Given the description of an element on the screen output the (x, y) to click on. 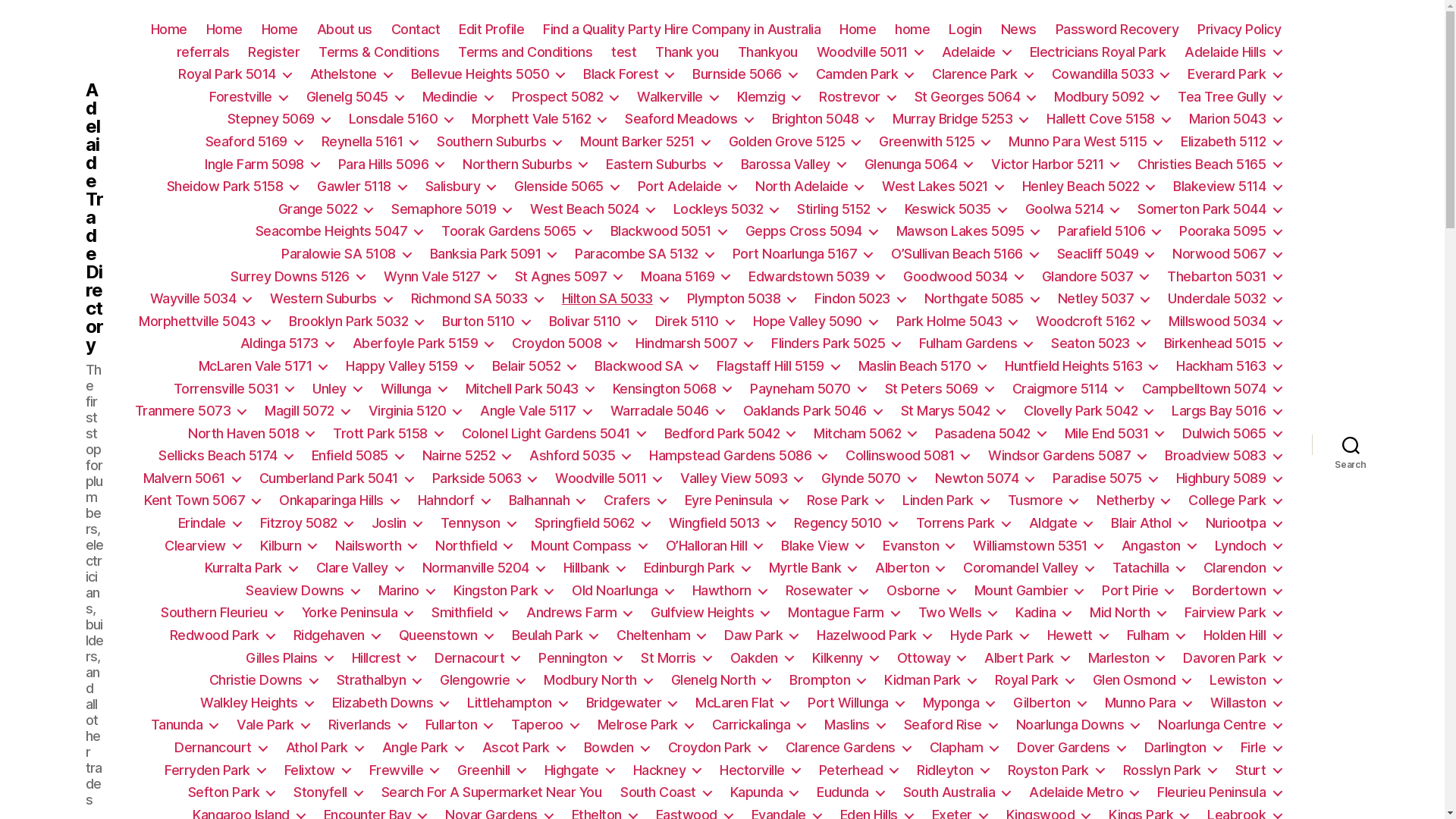
Adelaide Element type: text (975, 51)
Pooraka 5095 Element type: text (1229, 230)
Northgate 5085 Element type: text (981, 298)
Glenelg 5045 Element type: text (354, 96)
Medindie Element type: text (457, 96)
Kadina Element type: text (1042, 612)
Somerton Park 5044 Element type: text (1208, 208)
Ashford 5035 Element type: text (579, 455)
Tatachilla Element type: text (1148, 567)
Kilburn Element type: text (288, 545)
Golden Grove 5125 Element type: text (794, 141)
Norwood 5067 Element type: text (1226, 253)
Dulwich 5065 Element type: text (1231, 433)
Ottoway Element type: text (931, 657)
St Georges 5064 Element type: text (974, 96)
Largs Bay 5016 Element type: text (1225, 410)
Richmond SA 5033 Element type: text (476, 298)
Pennington Element type: text (579, 657)
Riverlands Element type: text (367, 724)
News Element type: text (1018, 29)
Direk 5110 Element type: text (694, 321)
Toorak Gardens 5065 Element type: text (516, 230)
Wayville 5034 Element type: text (200, 298)
Nairne 5252 Element type: text (466, 455)
Hillcrest Element type: text (383, 657)
Wingfield 5013 Element type: text (721, 522)
Parkside 5063 Element type: text (484, 478)
Royston Park Element type: text (1055, 770)
Gulfview Heights Element type: text (709, 612)
Kurralta Park Element type: text (250, 567)
Marion 5043 Element type: text (1235, 118)
Willaston Element type: text (1245, 702)
Home Element type: text (168, 29)
Williamstown 5351 Element type: text (1037, 545)
Athelstone Element type: text (351, 73)
Frewville Element type: text (404, 770)
Park Holme 5043 Element type: text (956, 321)
Elizabeth Downs Element type: text (390, 702)
Modbury North Element type: text (597, 679)
Tennyson Element type: text (477, 522)
Hallett Cove 5158 Element type: text (1108, 118)
South Australia Element type: text (956, 792)
Dover Gardens Element type: text (1070, 747)
Nuriootpa Element type: text (1243, 522)
Moana 5169 Element type: text (684, 276)
Burnside 5066 Element type: text (744, 73)
Hackham 5163 Element type: text (1228, 365)
Brompton Element type: text (827, 679)
Reynella 5161 Element type: text (369, 141)
Northfield Element type: text (473, 545)
Linden Park Element type: text (945, 500)
Bridgewater Element type: text (631, 702)
Osborne Element type: text (920, 590)
Find a Quality Party Hire Company in Australia Element type: text (681, 29)
Noarlunga Downs Element type: text (1077, 724)
Blakeview 5114 Element type: text (1226, 186)
Valley View 5093 Element type: text (741, 478)
Clovelly Park 5042 Element type: text (1087, 410)
Taperoo Element type: text (544, 724)
Search Element type: text (1350, 444)
Newton 5074 Element type: text (984, 478)
Clapham Element type: text (963, 747)
Happy Valley 5159 Element type: text (409, 365)
Hillbank Element type: text (593, 567)
Woodville 5011 Element type: text (869, 51)
Pasadena 5042 Element type: text (990, 433)
Netherby Element type: text (1132, 500)
Campbelltown 5074 Element type: text (1211, 388)
Clarence Park Element type: text (981, 73)
Port Noarlunga 5167 Element type: text (802, 253)
Montague Farm Element type: text (843, 612)
Hahndorf Element type: text (453, 500)
Terms and Conditions Element type: text (525, 51)
Eudunda Element type: text (850, 792)
Blair Athol Element type: text (1148, 522)
Ascot Park Element type: text (523, 747)
Woodville 5011 Element type: text (608, 478)
Broadview 5083 Element type: text (1222, 455)
Sefton Park Element type: text (231, 792)
Glenelg North Element type: text (721, 679)
Woodcroft 5162 Element type: text (1092, 321)
Torrens Park Element type: text (963, 522)
Fulham Element type: text (1155, 635)
Firle Element type: text (1260, 747)
Ferryden Park Element type: text (214, 770)
Southern Suburbs Element type: text (498, 141)
Banksia Park 5091 Element type: text (492, 253)
Electricians Royal Park Element type: text (1097, 51)
Walkley Heights Element type: text (256, 702)
Thankyou Element type: text (767, 51)
Seacliff 5049 Element type: text (1105, 253)
Plympton 5038 Element type: text (741, 298)
Victor Harbor 5211 Element type: text (1054, 164)
Morphettville 5043 Element type: text (203, 321)
Rosslyn Park Element type: text (1169, 770)
Mount Barker 5251 Element type: text (644, 141)
Vale Park Element type: text (272, 724)
Lonsdale 5160 Element type: text (400, 118)
referrals Element type: text (202, 51)
Semaphore 5019 Element type: text (451, 208)
Blackwood 5051 Element type: text (668, 230)
Paradise 5075 Element type: text (1104, 478)
Fitzroy 5082 Element type: text (306, 522)
Angle Park Element type: text (422, 747)
Stepney 5069 Element type: text (278, 118)
Willunga Element type: text (413, 388)
Edwardstown 5039 Element type: text (816, 276)
College Park Element type: text (1234, 500)
Western Suburbs Element type: text (330, 298)
Melrose Park Element type: text (645, 724)
Brooklyn Park 5032 Element type: text (355, 321)
Erindale Element type: text (209, 522)
St Agnes 5097 Element type: text (568, 276)
Yorke Peninsula Element type: text (357, 612)
Register Element type: text (273, 51)
Hindmarsh 5007 Element type: text (693, 343)
Seaford Meadows Element type: text (688, 118)
Unley Element type: text (336, 388)
Littlehampton Element type: text (517, 702)
Hewett Element type: text (1077, 635)
Goodwood 5034 Element type: text (962, 276)
Glandore 5037 Element type: text (1094, 276)
Myrtle Bank Element type: text (812, 567)
Adelaide Metro Element type: text (1083, 792)
Mount Gambier Element type: text (1028, 590)
Springfield 5062 Element type: text (591, 522)
Maslin Beach 5170 Element type: text (922, 365)
Walkerville Element type: text (677, 96)
Cowandilla 5033 Element type: text (1110, 73)
test Element type: text (623, 51)
Evanston Element type: text (917, 545)
Angle Vale 5117 Element type: text (535, 410)
Maslins Element type: text (854, 724)
Crafers Element type: text (634, 500)
Forestville Element type: text (248, 96)
Eyre Peninsula Element type: text (735, 500)
North Haven 5018 Element type: text (250, 433)
Marleston Element type: text (1126, 657)
home Element type: text (911, 29)
Royal Park Element type: text (1033, 679)
Huntfield Heights 5163 Element type: text (1080, 365)
Edit Profile Element type: text (491, 29)
Myponga Element type: text (958, 702)
Highgate Element type: text (579, 770)
Balhannah Element type: text (546, 500)
West Beach 5024 Element type: text (592, 208)
Northern Suburbs Element type: text (524, 164)
Fleurieu Peninsula Element type: text (1218, 792)
Rostrevor Element type: text (857, 96)
Thebarton 5031 Element type: text (1223, 276)
Hectorville Element type: text (759, 770)
Tusmore Element type: text (1042, 500)
Underdale 5032 Element type: text (1223, 298)
Home Element type: text (279, 29)
Bordertown Element type: text (1236, 590)
Grange 5022 Element type: text (325, 208)
Cheltenham Element type: text (660, 635)
Angaston Element type: text (1158, 545)
Home Element type: text (857, 29)
Home Element type: text (224, 29)
Athol Park Element type: text (324, 747)
About us Element type: text (344, 29)
Daw Park Element type: text (760, 635)
Kingston Park Element type: text (503, 590)
Findon 5023 Element type: text (859, 298)
Redwood Park Element type: text (221, 635)
Sheidow Park 5158 Element type: text (232, 186)
Torrensville 5031 Element type: text (233, 388)
Wynn Vale 5127 Element type: text (439, 276)
Adelaide Trade Directory Element type: text (93, 217)
Dernacourt Element type: text (476, 657)
Cumberland Park 5041 Element type: text (336, 478)
Joslin Element type: text (396, 522)
Seaview Downs Element type: text (302, 590)
Clearview Element type: text (202, 545)
Nailsworth Element type: text (375, 545)
Enfield 5085 Element type: text (357, 455)
Kent Town 5067 Element type: text (202, 500)
Thank you Element type: text (686, 51)
Felixtow Element type: text (317, 770)
Blackwood SA Element type: text (645, 365)
Munno Para West 5115 Element type: text (1084, 141)
St Morris Element type: text (675, 657)
Onkaparinga Hills Element type: text (338, 500)
Fairview Park Element type: text (1232, 612)
Bowden Element type: text (616, 747)
Parafield 5106 Element type: text (1108, 230)
Kidman Park Element type: text (929, 679)
Windsor Gardens 5087 Element type: text (1066, 455)
Gepps Cross 5094 Element type: text (811, 230)
Two Wells Element type: text (957, 612)
Contact Element type: text (415, 29)
Lyndoch Element type: text (1247, 545)
Royal Park 5014 Element type: text (234, 73)
Virginia 5120 Element type: text (414, 410)
Morphett Vale 5162 Element type: text (538, 118)
Flinders Park 5025 Element type: text (835, 343)
Oakden Element type: text (761, 657)
Port Adelaide Element type: text (687, 186)
Brighton 5048 Element type: text (822, 118)
Warradale 5046 Element type: text (667, 410)
Marino Element type: text (406, 590)
Davoren Park Element type: text (1231, 657)
Christies Beach 5165 Element type: text (1208, 164)
Gilberton Element type: text (1049, 702)
Greenhill Element type: text (491, 770)
McLaren Flat Element type: text (741, 702)
Seaford Rise Element type: text (950, 724)
Mitcham 5062 Element type: text (864, 433)
Hyde Park Element type: text (989, 635)
Hackney Element type: text (667, 770)
Gilles Plains Element type: text (288, 657)
Eastern Suburbs Element type: text (663, 164)
Glynde 5070 Element type: text (868, 478)
Oaklands Park 5046 Element type: text (812, 410)
Highbury 5089 Element type: text (1228, 478)
Gawler 5118 Element type: text (361, 186)
St Peters 5069 Element type: text (938, 388)
Colonel Light Gardens 5041 Element type: text (553, 433)
Croydon Park Element type: text (717, 747)
Hazelwood Park Element type: text (873, 635)
Mile End 5031 Element type: text (1114, 433)
Clare Valley Element type: text (359, 567)
Bolivar 5110 Element type: text (592, 321)
Terms & Conditions Element type: text (378, 51)
Old Noarlunga Element type: text (622, 590)
Klemzig Element type: text (768, 96)
Croydon 5008 Element type: text (563, 343)
Tea Tree Gully Element type: text (1228, 96)
Surrey Downs 5126 Element type: text (297, 276)
Smithfield Element type: text (469, 612)
Lewiston Element type: text (1244, 679)
Rosewater Element type: text (826, 590)
Southern Fleurieu Element type: text (221, 612)
Rose Park Element type: text (845, 500)
Peterhead Element type: text (858, 770)
Stonyfell Element type: text (327, 792)
Belair 5052 Element type: text (534, 365)
Adelaide Hills Element type: text (1232, 51)
Darlington Element type: text (1182, 747)
Hope Valley 5090 Element type: text (815, 321)
Holden Hill Element type: text (1242, 635)
Strathalbyn Element type: text (378, 679)
Birkenhead 5015 Element type: text (1222, 343)
Sellicks Beach 5174 Element type: text (225, 455)
Glenside 5065 Element type: text (566, 186)
Aldinga 5173 Element type: text (286, 343)
Noarlunga Centre Element type: text (1218, 724)
Dernancourt Element type: text (220, 747)
Mid North Element type: text (1127, 612)
Port Pirie Element type: text (1137, 590)
Trott Park 5158 Element type: text (387, 433)
Seacombe Heights 5047 Element type: text (339, 230)
Port Willunga Element type: text (855, 702)
Mitchell Park 5043 Element type: text (529, 388)
Everard Park Element type: text (1233, 73)
Glengowrie Element type: text (481, 679)
Payneham 5070 Element type: text (807, 388)
Craigmore 5114 Element type: text (1067, 388)
Hilton SA 5033 Element type: text (614, 298)
Glenunga 5064 Element type: text (918, 164)
Coromandel Valley Element type: text (1028, 567)
Fullarton Element type: text (458, 724)
West Lakes 5021 Element type: text (942, 186)
Millswood 5034 Element type: text (1224, 321)
South Coast Element type: text (665, 792)
Edinburgh Park Element type: text (696, 567)
Privacy Policy Element type: text (1238, 29)
Ridleyton Element type: text (952, 770)
Blake View Element type: text (822, 545)
Netley 5037 Element type: text (1103, 298)
Beulah Park Element type: text (554, 635)
Lockleys 5032 Element type: text (725, 208)
Bedford Park 5042 Element type: text (729, 433)
Christie Downs Element type: text (263, 679)
Andrews Farm Element type: text (578, 612)
Tranmere 5073 Element type: text (190, 410)
McLaren Vale 5171 Element type: text (262, 365)
Albert Park Element type: text (1026, 657)
Mount Compass Element type: text (588, 545)
Kapunda Element type: text (764, 792)
Flagstaff Hill 5159 Element type: text (777, 365)
Clarence Gardens Element type: text (847, 747)
Clarendon Element type: text (1242, 567)
Collinswood 5081 Element type: text (907, 455)
Keswick 5035 Element type: text (955, 208)
Queenstown Element type: text (445, 635)
Malvern 5061 Element type: text (191, 478)
Regency 5010 Element type: text (845, 522)
Password Recovery Element type: text (1117, 29)
Goolwa 5214 Element type: text (1072, 208)
Para Hills 5096 Element type: text (391, 164)
Tanunda Element type: text (184, 724)
Black Forest Element type: text (628, 73)
Search For A Supermarket Near You Element type: text (491, 792)
Elizabeth 5112 Element type: text (1230, 141)
Glen Osmond Element type: text (1141, 679)
Camden Park Element type: text (864, 73)
Bellevue Heights 5050 Element type: text (487, 73)
Magill 5072 Element type: text (306, 410)
Burton 5110 Element type: text (486, 321)
Aberfoyle Park 5159 Element type: text (422, 343)
Murray Bridge 5253 Element type: text (959, 118)
Kensington 5068 Element type: text (671, 388)
Modbury 5092 Element type: text (1106, 96)
Prospect 5082 Element type: text (564, 96)
Munno Para Element type: text (1147, 702)
Paracombe SA 5132 Element type: text (643, 253)
Henley Beach 5022 Element type: text (1088, 186)
Paralowie SA 5108 Element type: text (346, 253)
Ridgehaven Element type: text (336, 635)
St Marys 5042 Element type: text (952, 410)
Aldgate Element type: text (1060, 522)
Kilkenny Element type: text (845, 657)
Hawthorn Element type: text (729, 590)
Mawson Lakes 5095 Element type: text (967, 230)
Sturt Element type: text (1258, 770)
Seaton 5023 Element type: text (1098, 343)
Stirling 5152 Element type: text (841, 208)
Alberton Element type: text (909, 567)
Seaford 5169 Element type: text (253, 141)
Salisbury Element type: text (460, 186)
Fulham Gardens Element type: text (975, 343)
Barossa Valley Element type: text (792, 164)
Hampstead Gardens 5086 Element type: text (737, 455)
Carrickalinga Element type: text (759, 724)
Normanville 5204 Element type: text (483, 567)
Login Element type: text (965, 29)
Greenwith 5125 Element type: text (933, 141)
Ingle Farm 5098 Element type: text (261, 164)
North Adelaide Element type: text (808, 186)
